Given the description of an element on the screen output the (x, y) to click on. 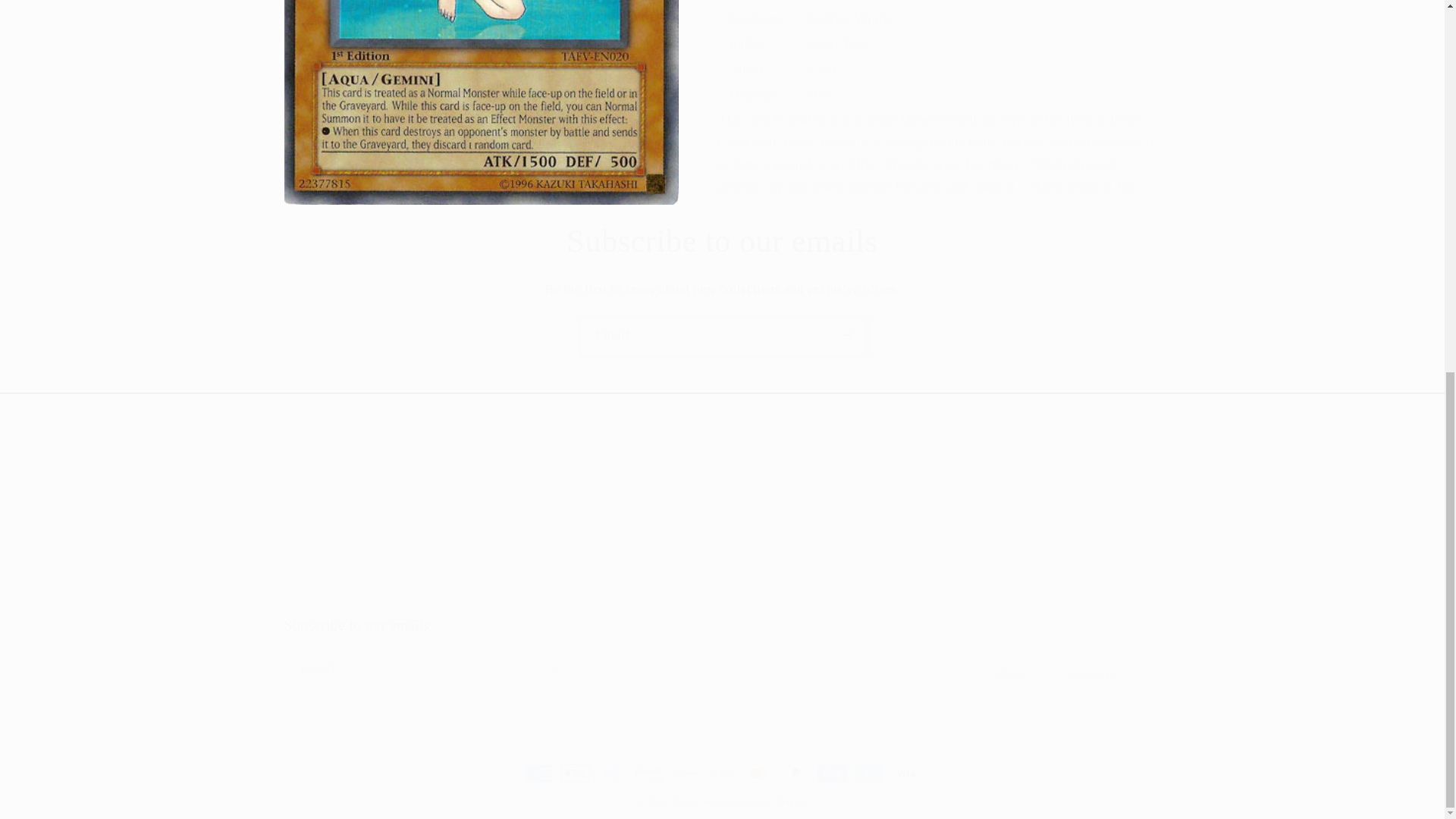
Subscribe to our emails (609, 533)
Open media 1 in modal (721, 652)
Email (722, 241)
Contact Us (480, 7)
